Given the description of an element on the screen output the (x, y) to click on. 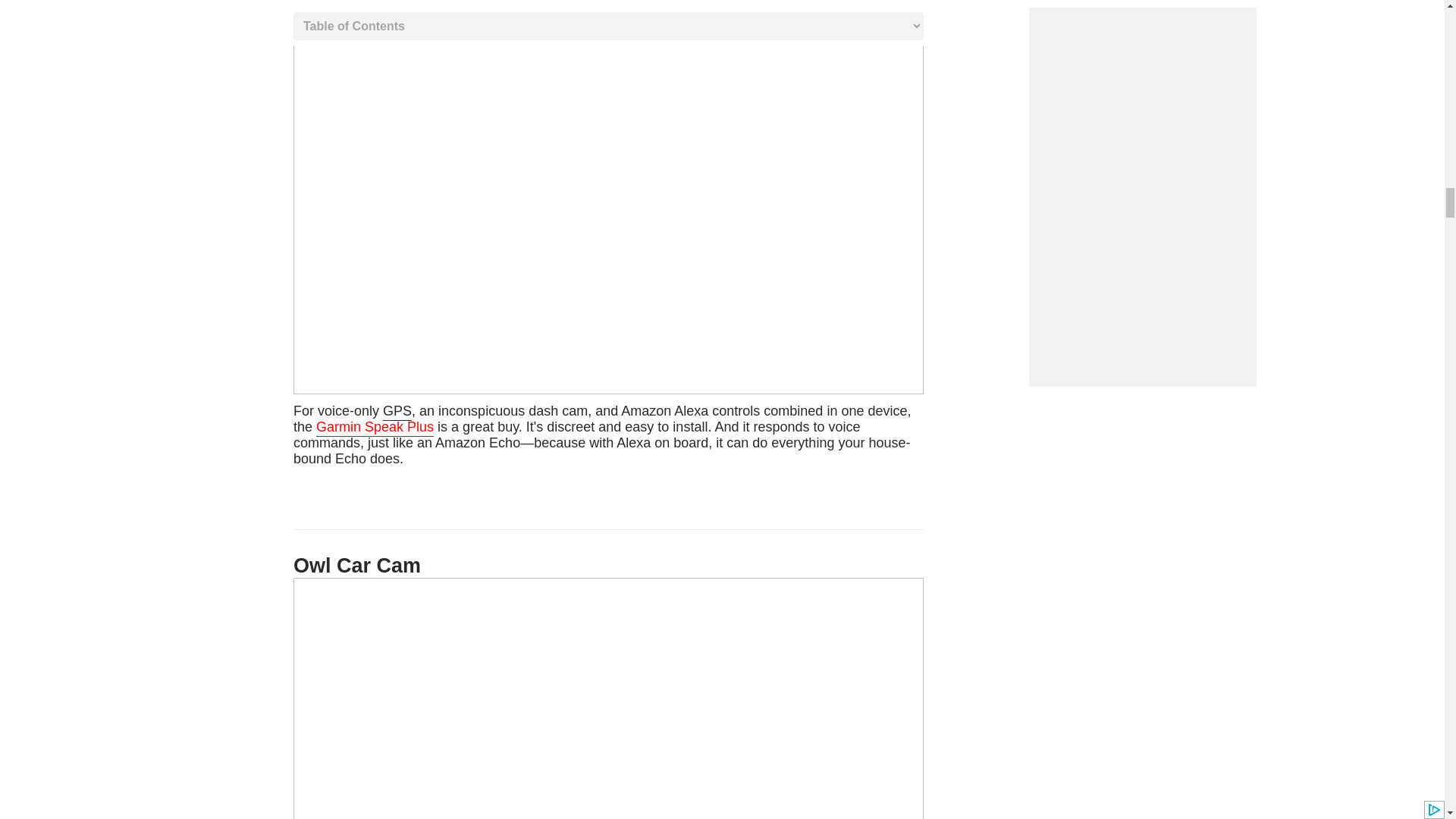
Buy It Now (602, 434)
